Given the description of an element on the screen output the (x, y) to click on. 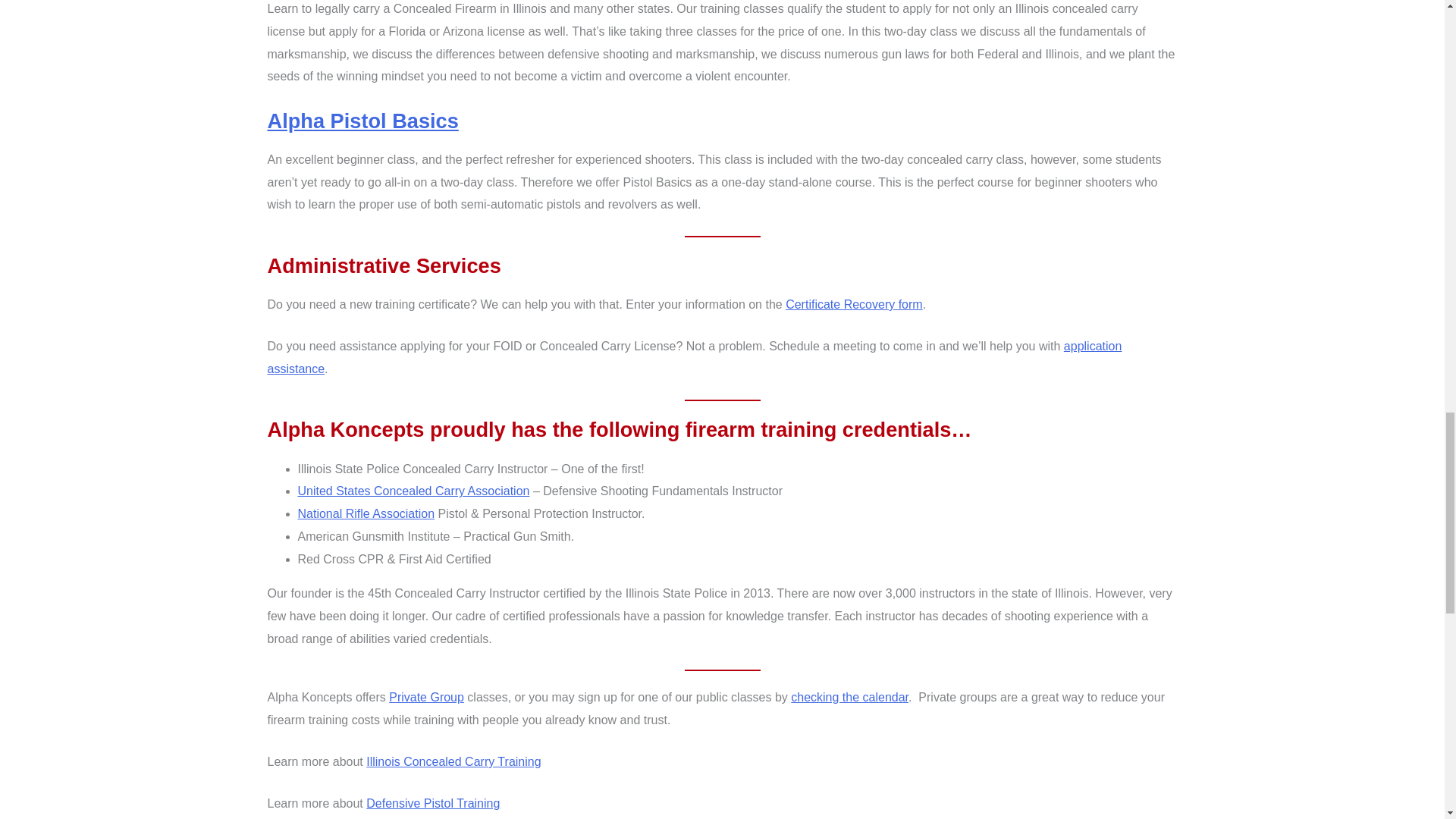
application assistance (693, 357)
Certificate Recovery form (854, 304)
Defensive Pistol Training (432, 802)
checking the calendar (849, 697)
Alpha Pistol Basics (362, 120)
United States Concealed Carry Association (413, 490)
Private Group (426, 697)
National Rifle Association (365, 513)
Illinois Concealed Carry Training (453, 761)
